Given the description of an element on the screen output the (x, y) to click on. 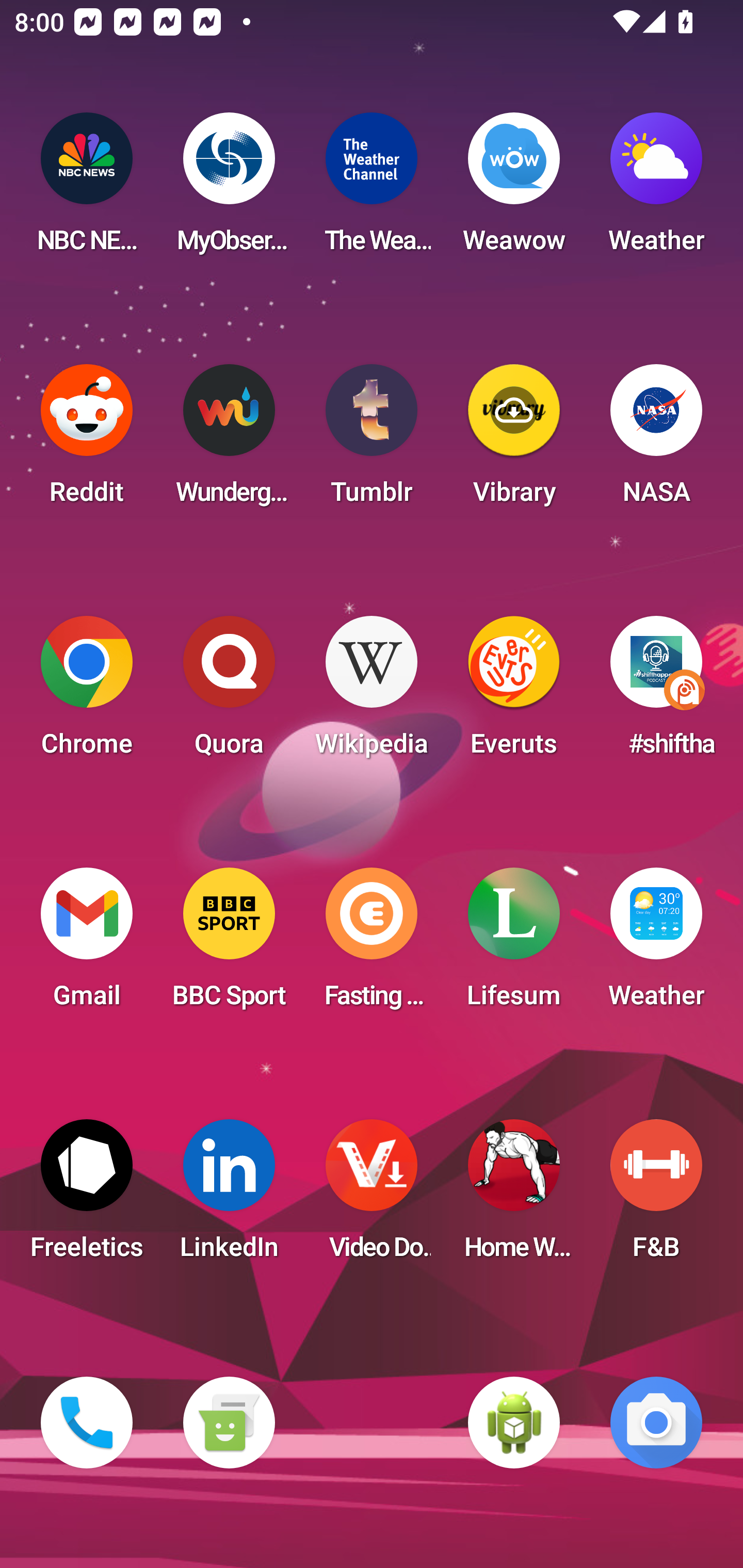
NBC NEWS (86, 188)
MyObservatory (228, 188)
The Weather Channel (371, 188)
Weawow (513, 188)
Weather (656, 188)
Reddit (86, 440)
Wunderground (228, 440)
Tumblr (371, 440)
Vibrary (513, 440)
NASA (656, 440)
Chrome (86, 692)
Quora (228, 692)
Wikipedia (371, 692)
Everuts (513, 692)
#shifthappens in the Digital Workplace Podcast (656, 692)
Gmail (86, 943)
BBC Sport (228, 943)
Fasting Coach (371, 943)
Lifesum (513, 943)
Weather (656, 943)
Freeletics (86, 1195)
LinkedIn (228, 1195)
Video Downloader & Ace Player (371, 1195)
Home Workout (513, 1195)
F&B (656, 1195)
Phone (86, 1422)
Messaging (228, 1422)
WebView Browser Tester (513, 1422)
Camera (656, 1422)
